Given the description of an element on the screen output the (x, y) to click on. 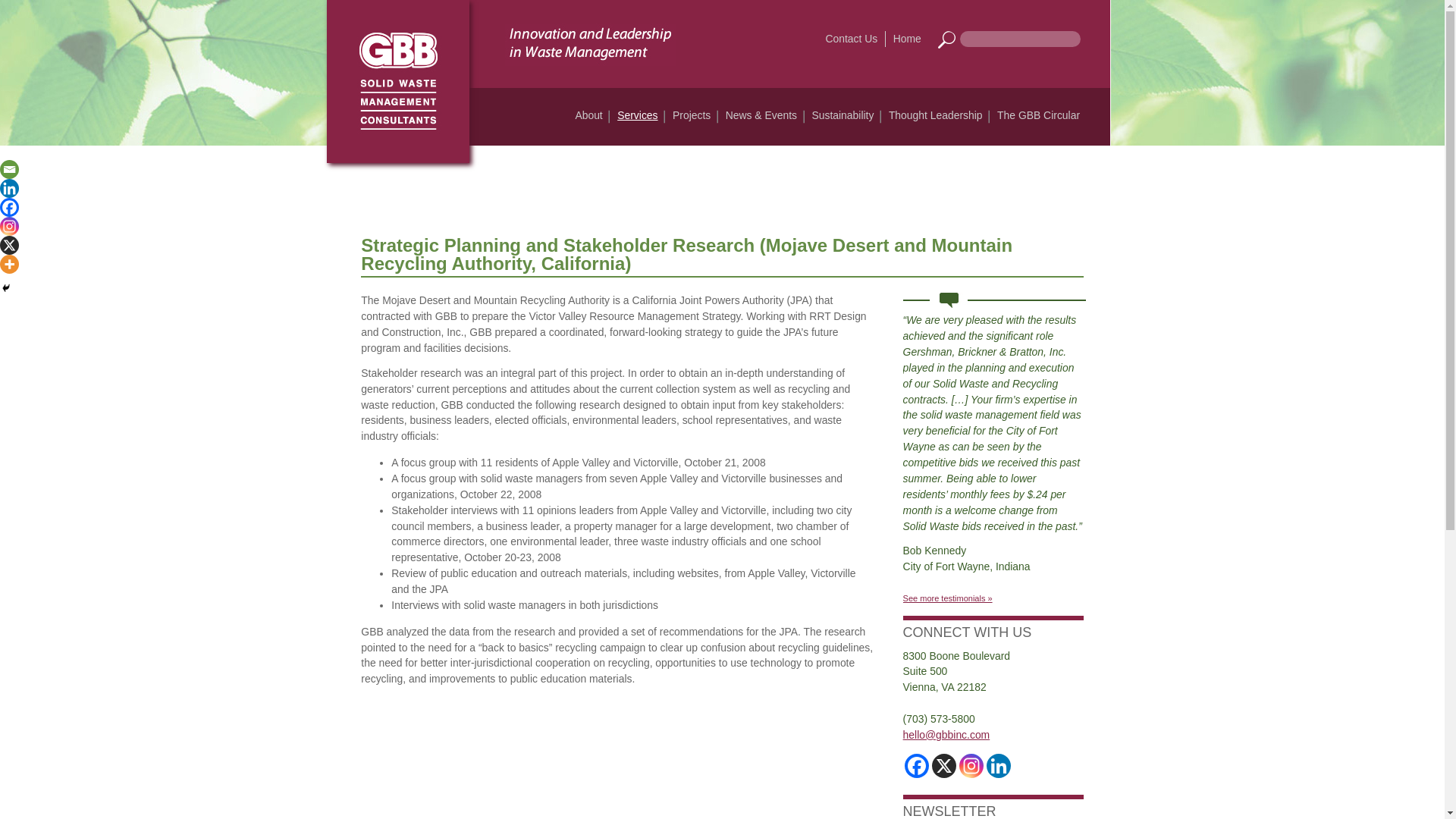
Services (637, 115)
Thought Leadership (935, 115)
Home (906, 38)
Contact Us (851, 38)
Sustainability (842, 115)
Hide (5, 287)
Projects (691, 115)
Instagram (971, 765)
Facebook (9, 207)
Facebook (916, 765)
About (588, 115)
Instagram (9, 226)
X (9, 244)
X (943, 765)
More (9, 263)
